Given the description of an element on the screen output the (x, y) to click on. 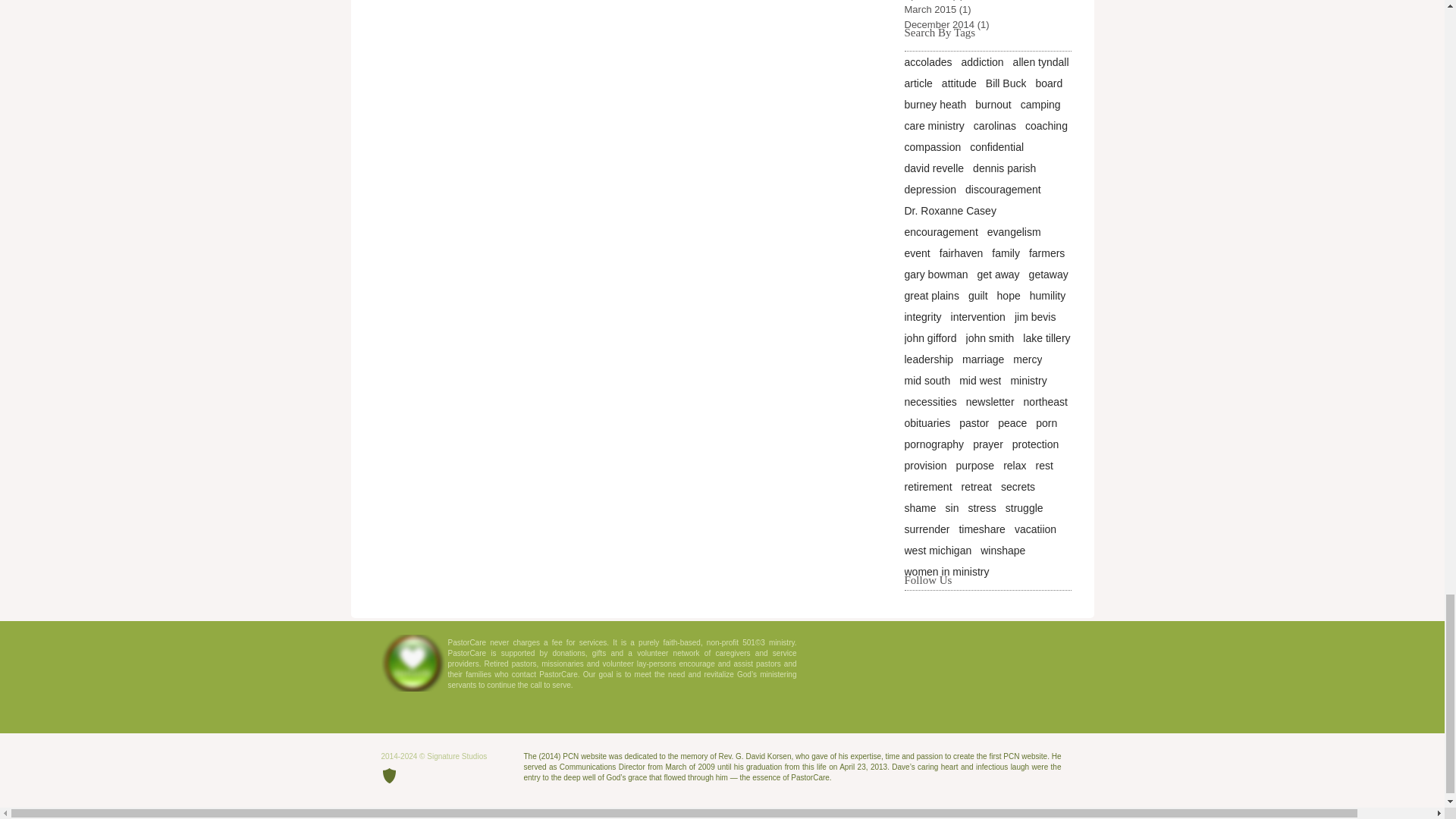
PastorCareDonateButton.png (412, 662)
